Given the description of an element on the screen output the (x, y) to click on. 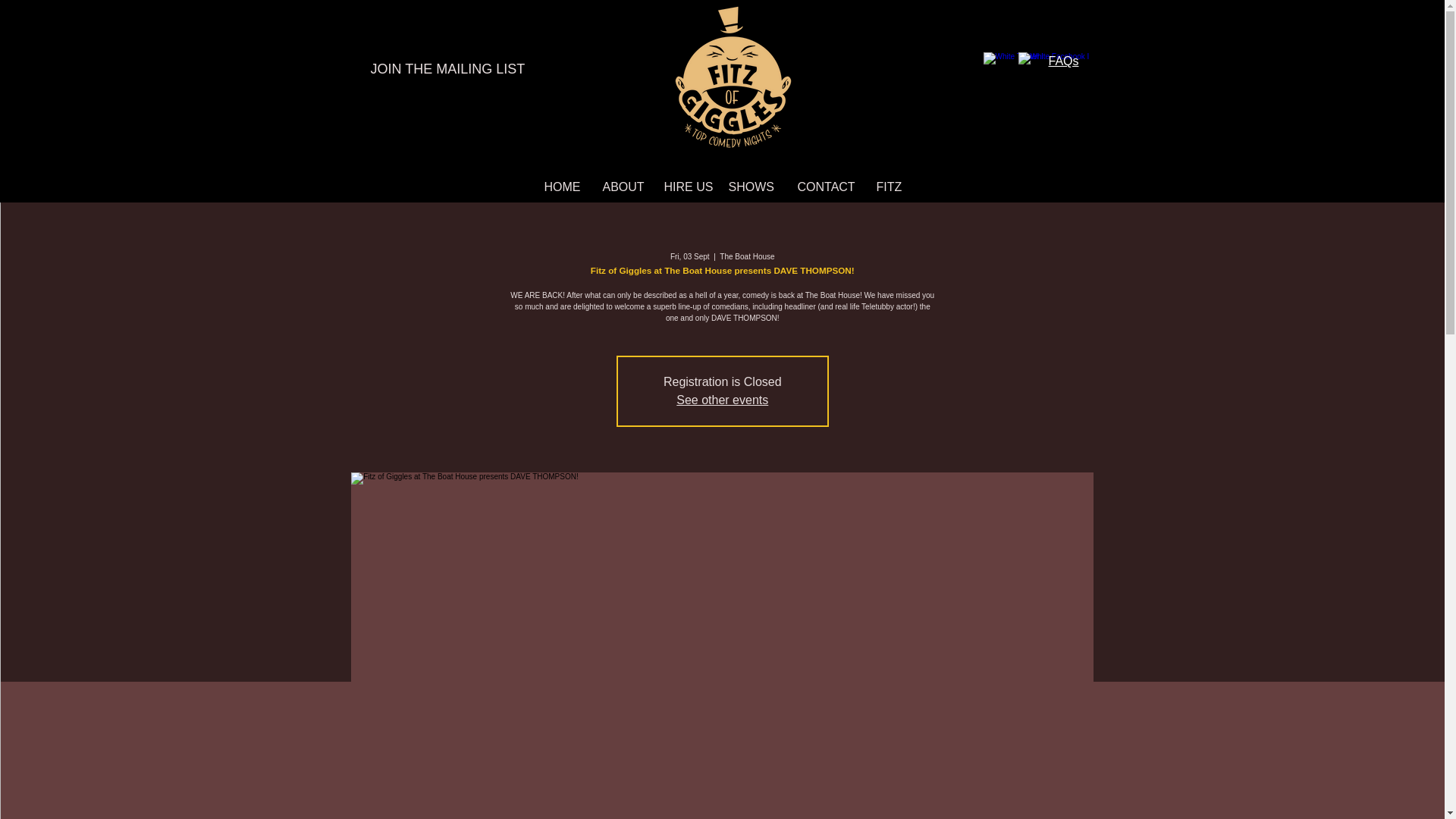
FAQs (1063, 60)
JOIN THE MAILING LIST (450, 69)
FITZ (885, 187)
CONTACT (825, 187)
HOME (561, 187)
ABOUT (621, 187)
HIRE US (684, 187)
SHOWS (751, 187)
See other events (722, 399)
